Given the description of an element on the screen output the (x, y) to click on. 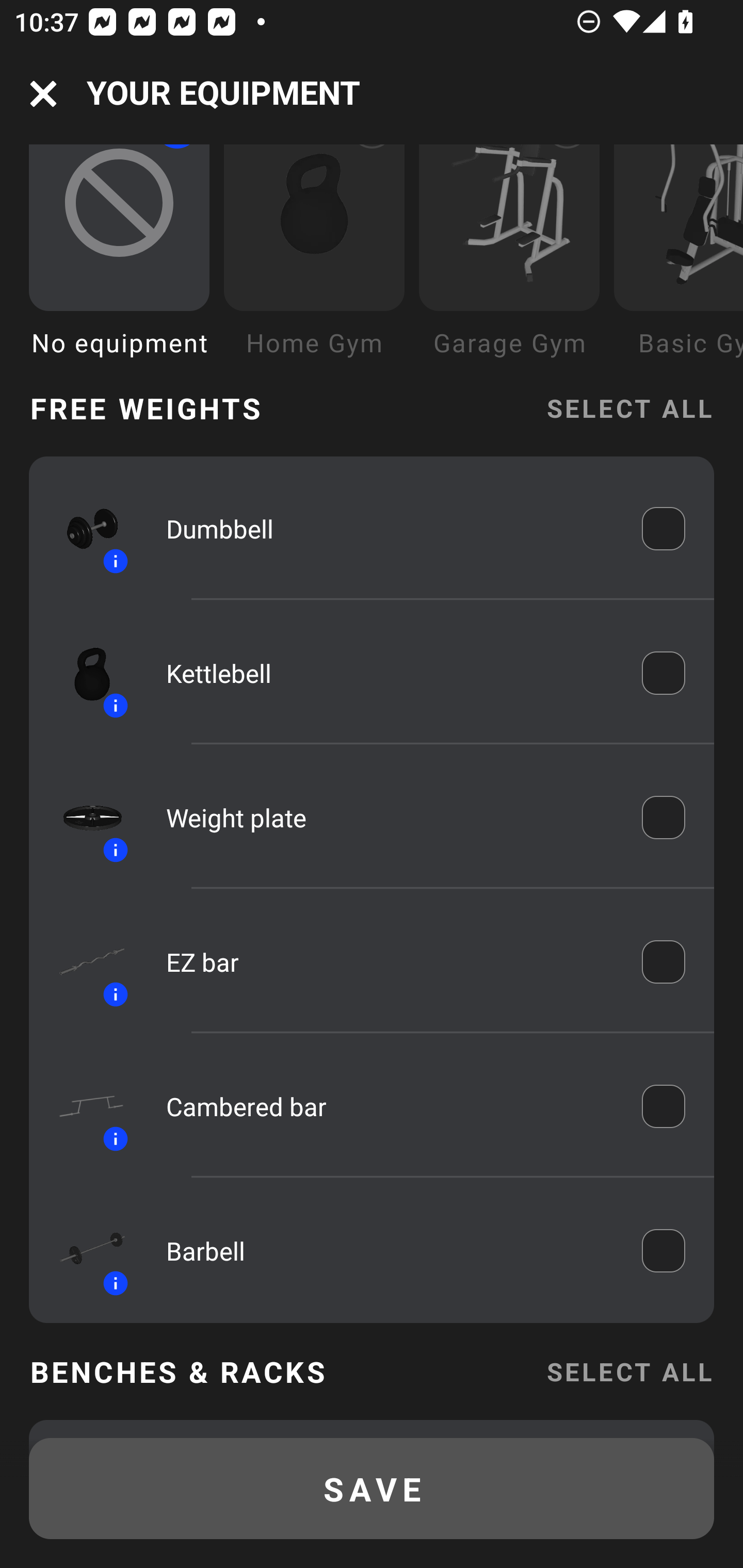
Navigation icon (43, 93)
SELECT ALL (629, 408)
Equipment icon Information icon (82, 529)
Dumbbell (389, 529)
Equipment icon Information icon (82, 673)
Kettlebell (389, 673)
Equipment icon Information icon (82, 817)
Weight plate (389, 817)
Equipment icon Information icon (82, 961)
EZ bar (389, 961)
Equipment icon Information icon (82, 1106)
Cambered bar (389, 1106)
Equipment icon Information icon (82, 1250)
Barbell (389, 1250)
SELECT ALL (629, 1371)
SAVE (371, 1488)
